Given the description of an element on the screen output the (x, y) to click on. 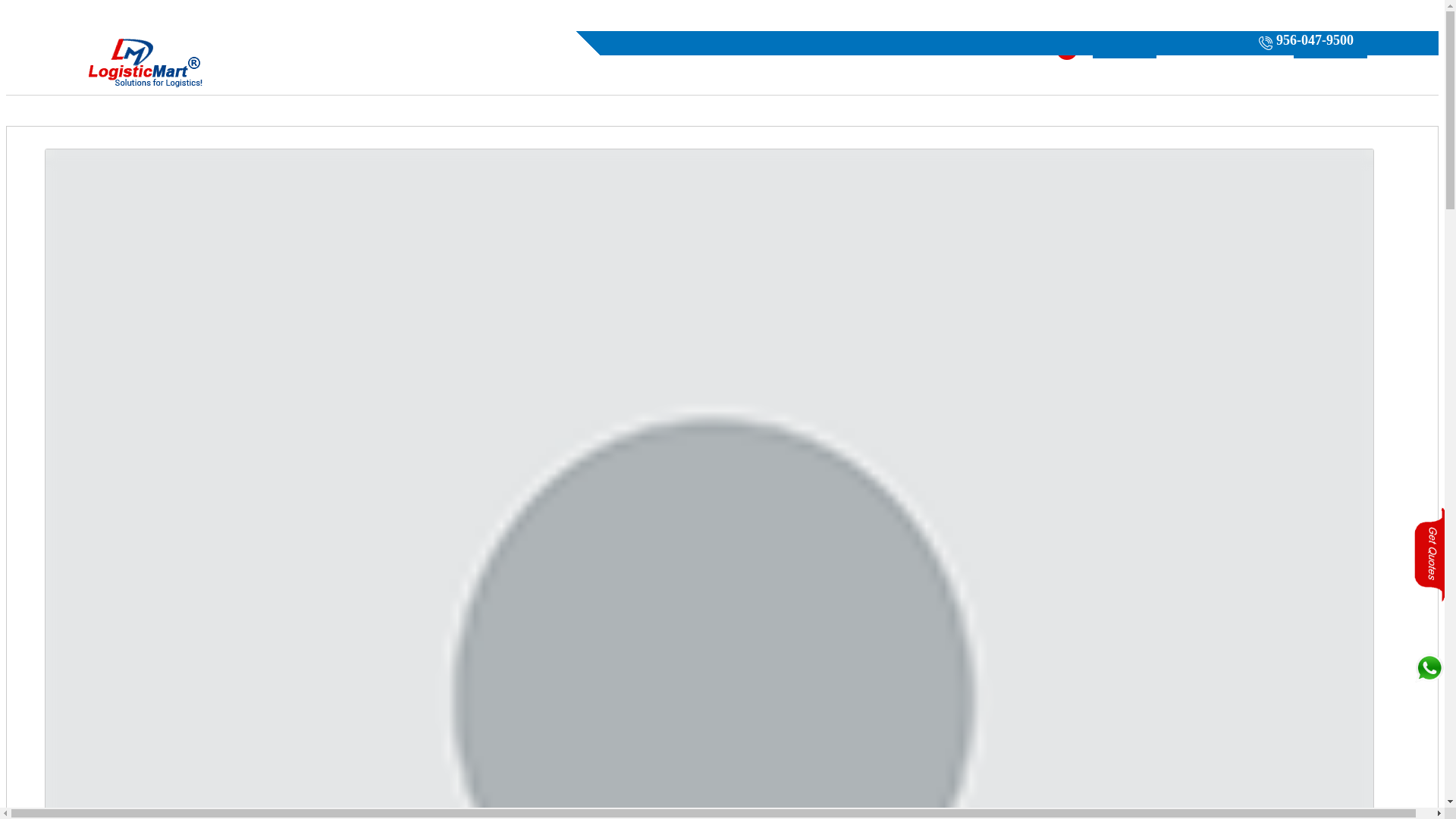
Join as a Professional (1225, 48)
Get Quotes (1124, 48)
956-047-9500 (1304, 43)
